Given the description of an element on the screen output the (x, y) to click on. 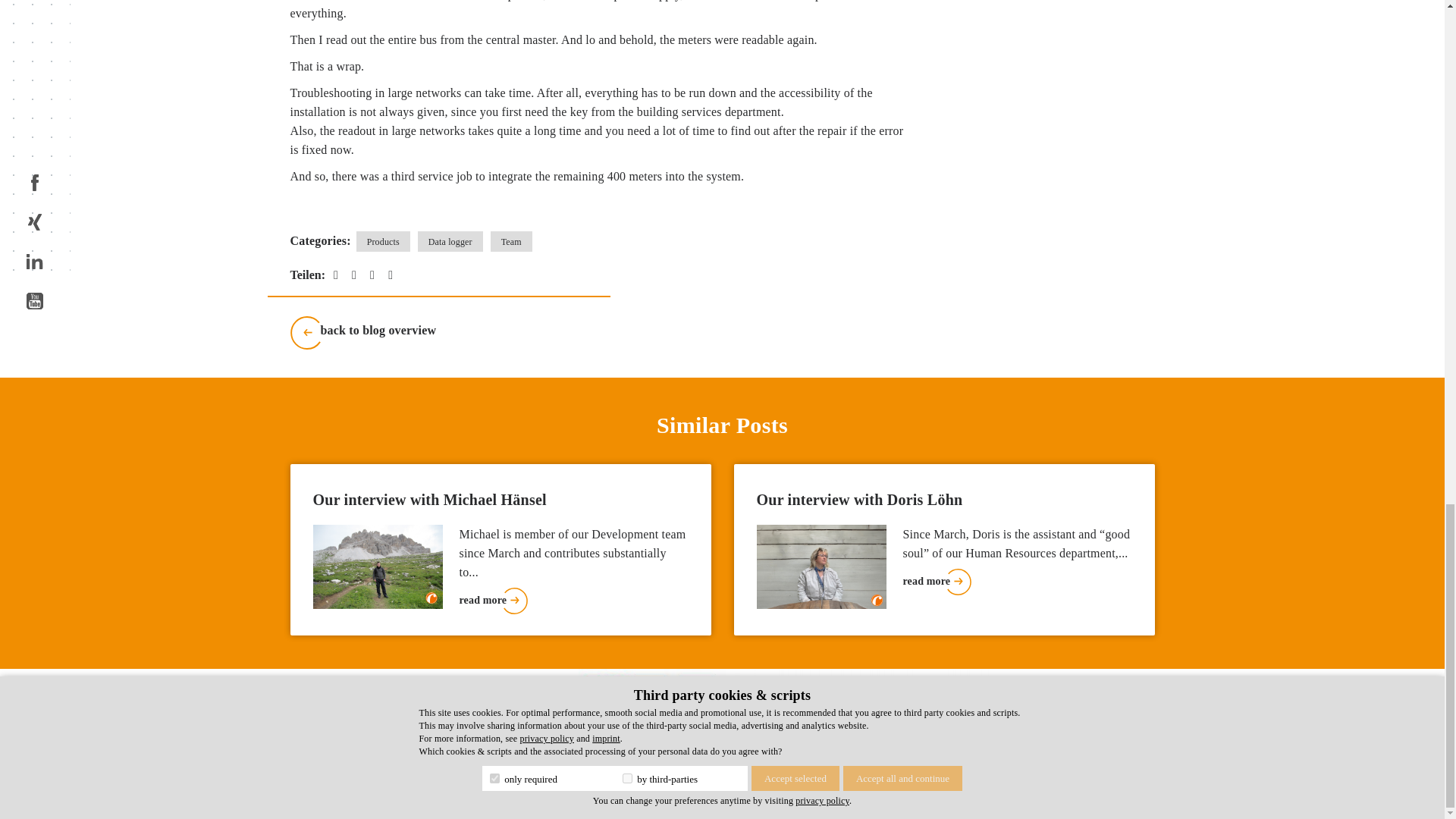
Products (383, 240)
Data logger (450, 240)
repeaters (520, 0)
Team (511, 240)
